Given the description of an element on the screen output the (x, y) to click on. 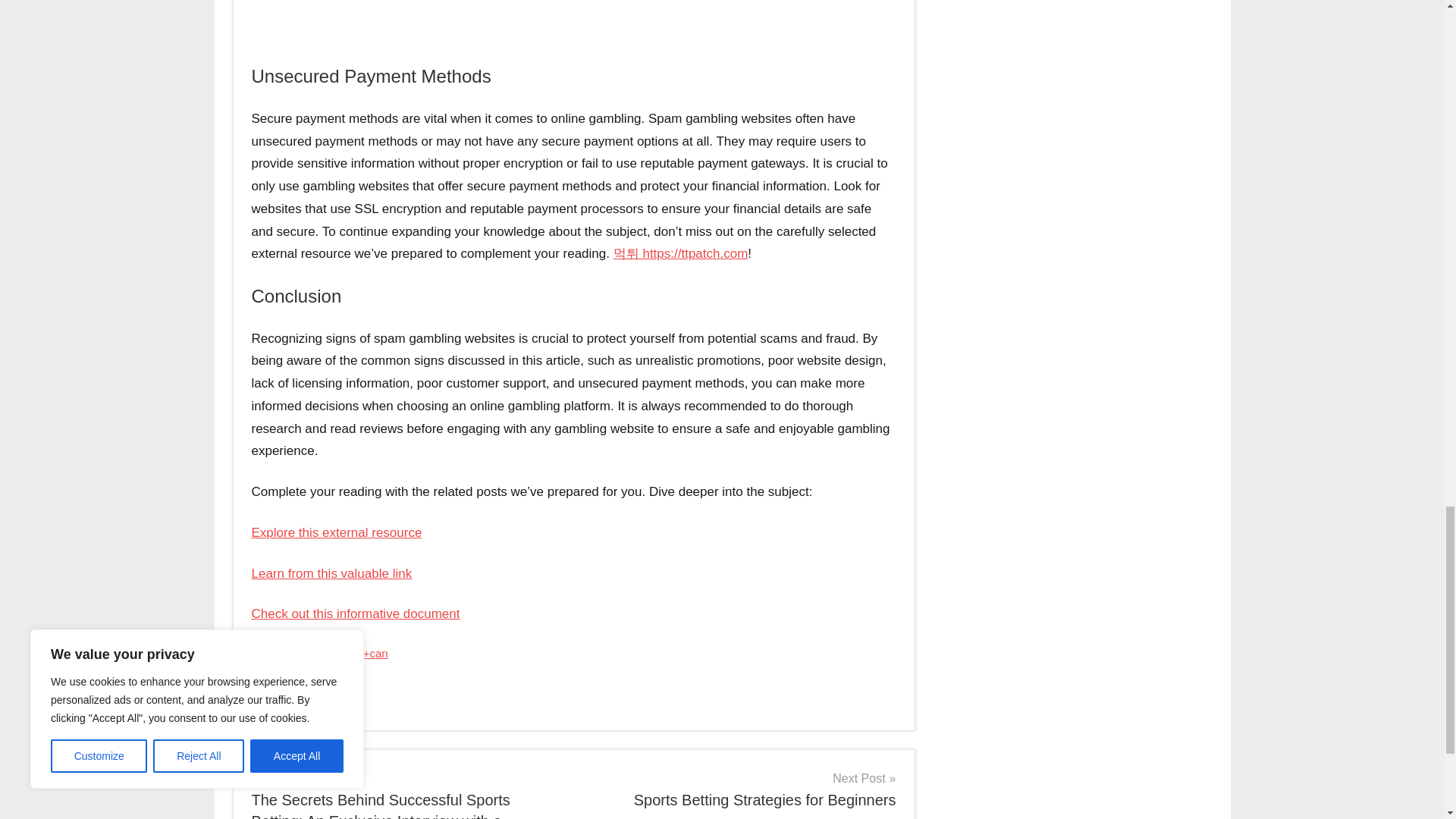
Explore this external resource (336, 532)
General (281, 696)
Learn from this valuable link (331, 573)
Check out this informative document (740, 789)
